Given the description of an element on the screen output the (x, y) to click on. 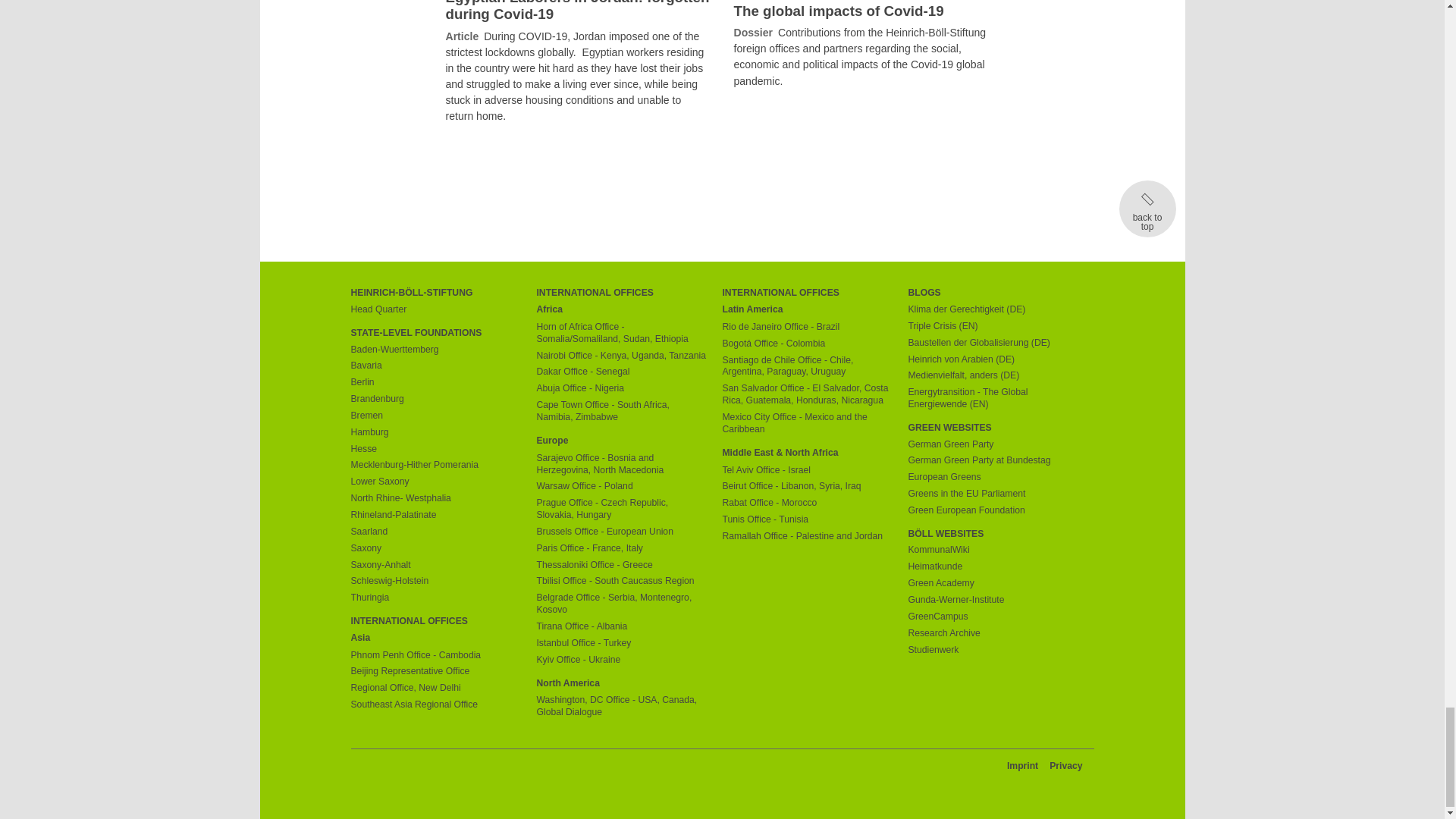
Head Quarter (435, 309)
